Given the description of an element on the screen output the (x, y) to click on. 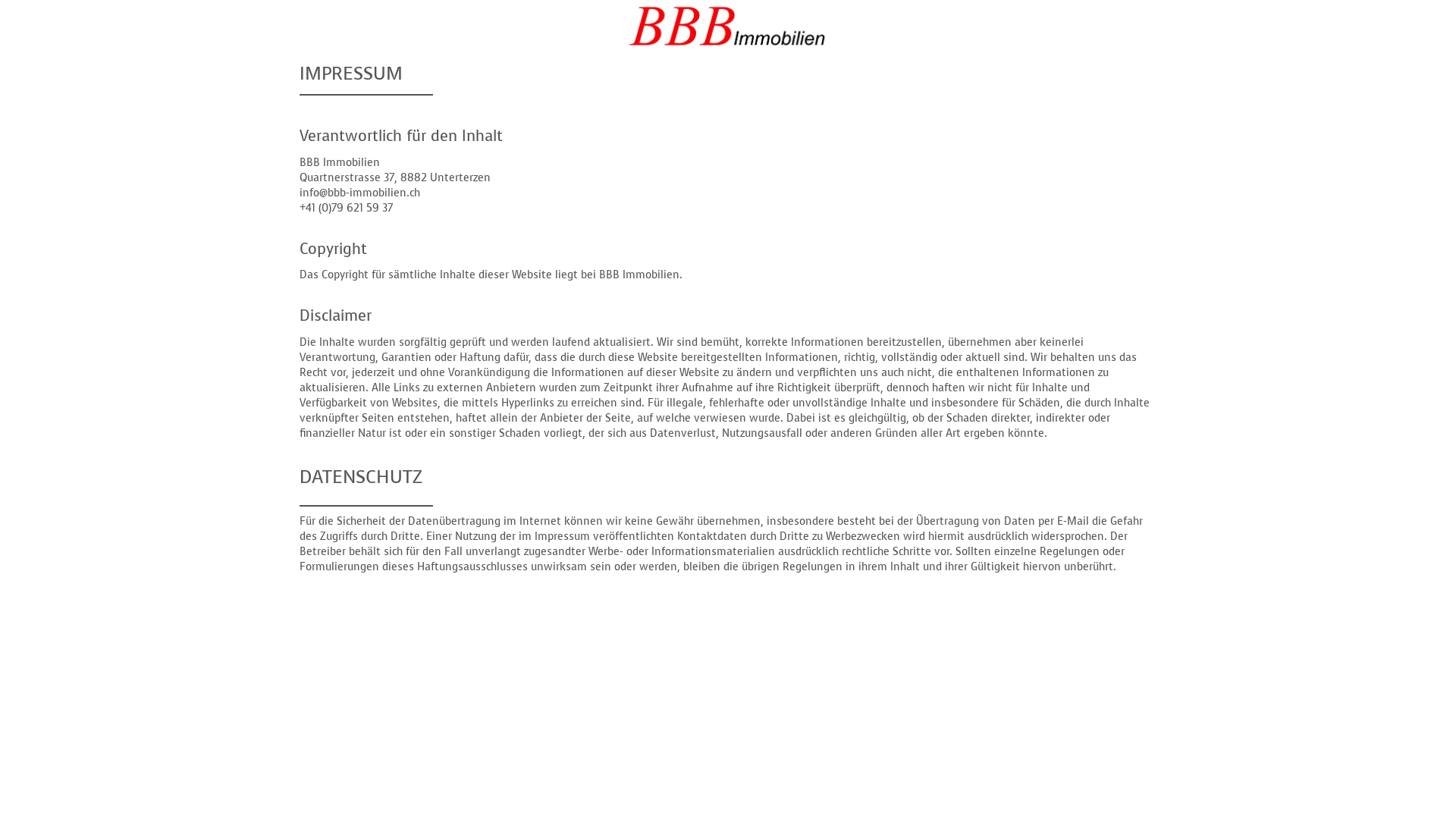
info@bbb-immobilien.ch Element type: text (359, 192)
+41 (0)79 621 59 37 Element type: text (345, 207)
